Given the description of an element on the screen output the (x, y) to click on. 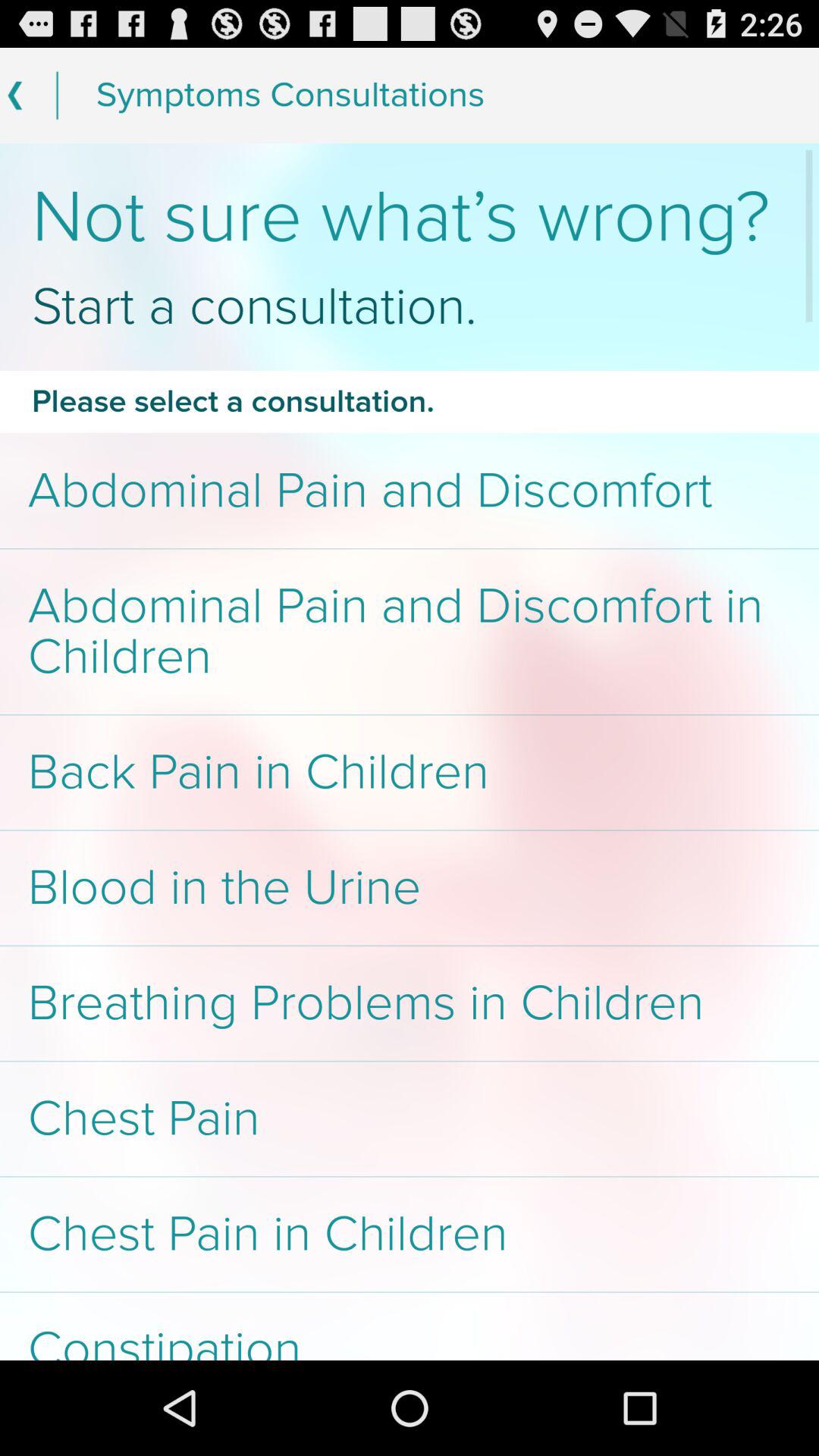
turn off the please select a icon (409, 401)
